Given the description of an element on the screen output the (x, y) to click on. 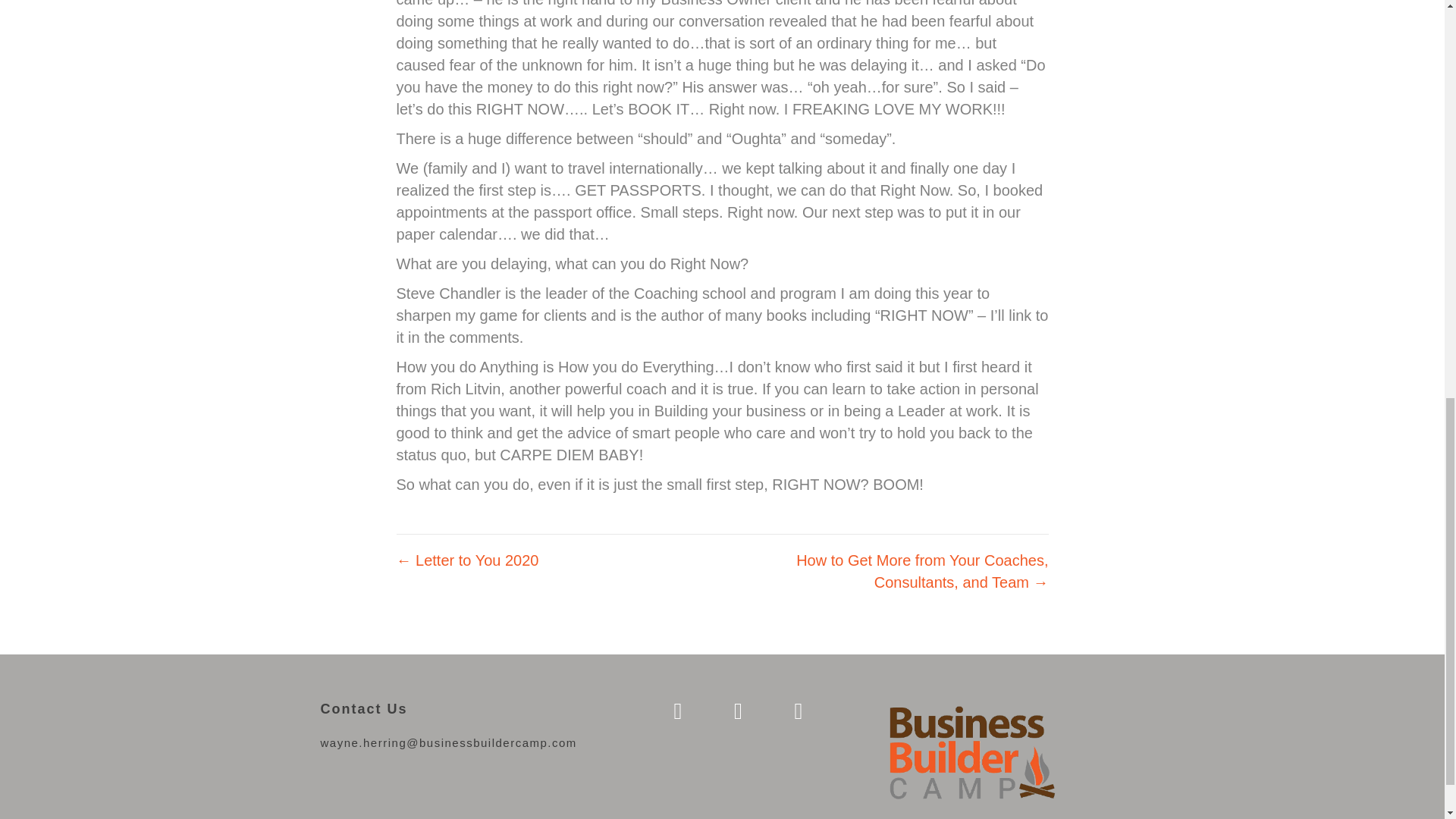
BBClogo (970, 755)
